Given the description of an element on the screen output the (x, y) to click on. 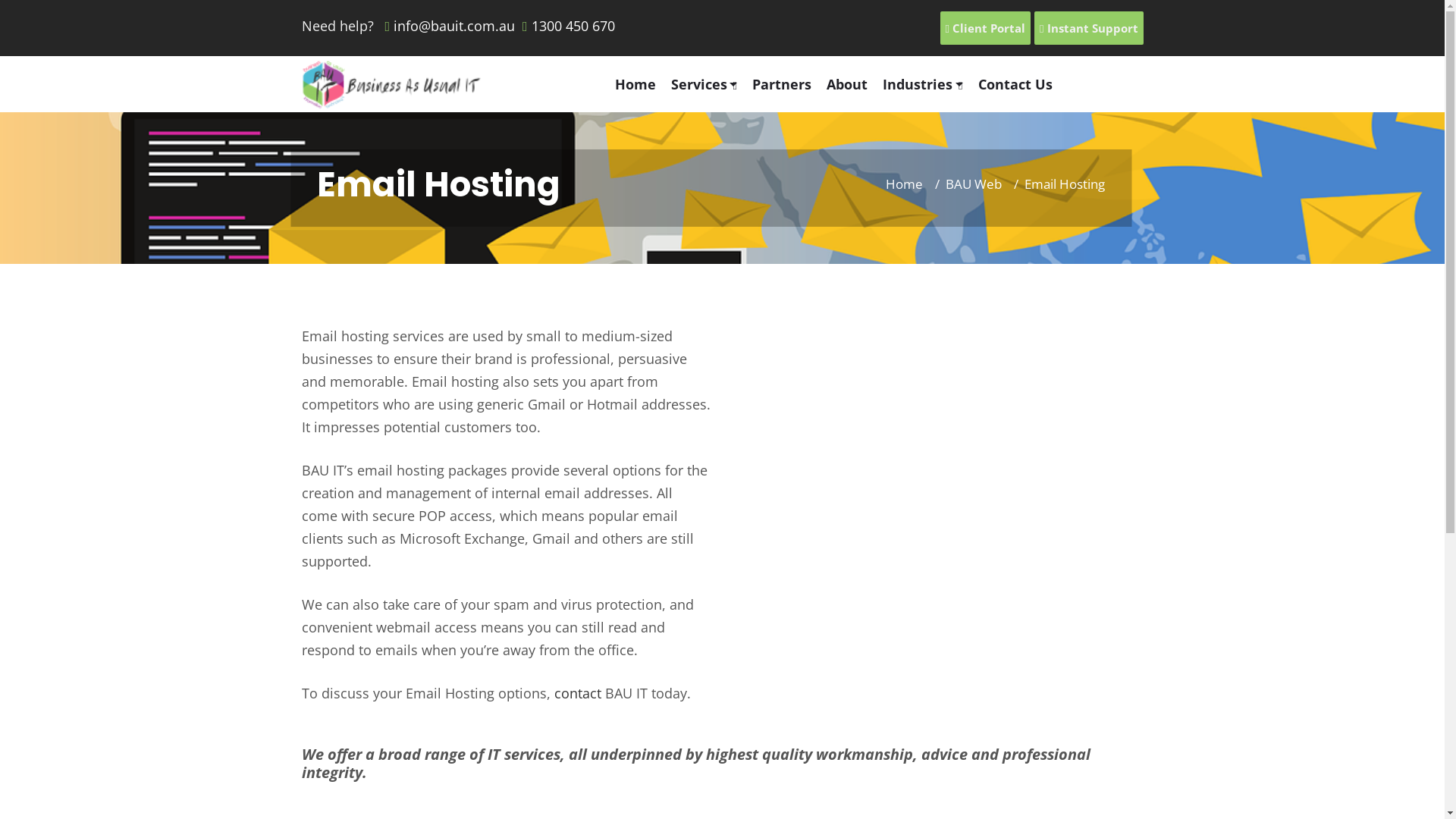
Contact Us Element type: text (1022, 84)
About Element type: text (854, 84)
Partners Element type: text (789, 84)
contact Element type: text (576, 693)
Industries Element type: text (929, 84)
Home Element type: text (903, 183)
